Given the description of an element on the screen output the (x, y) to click on. 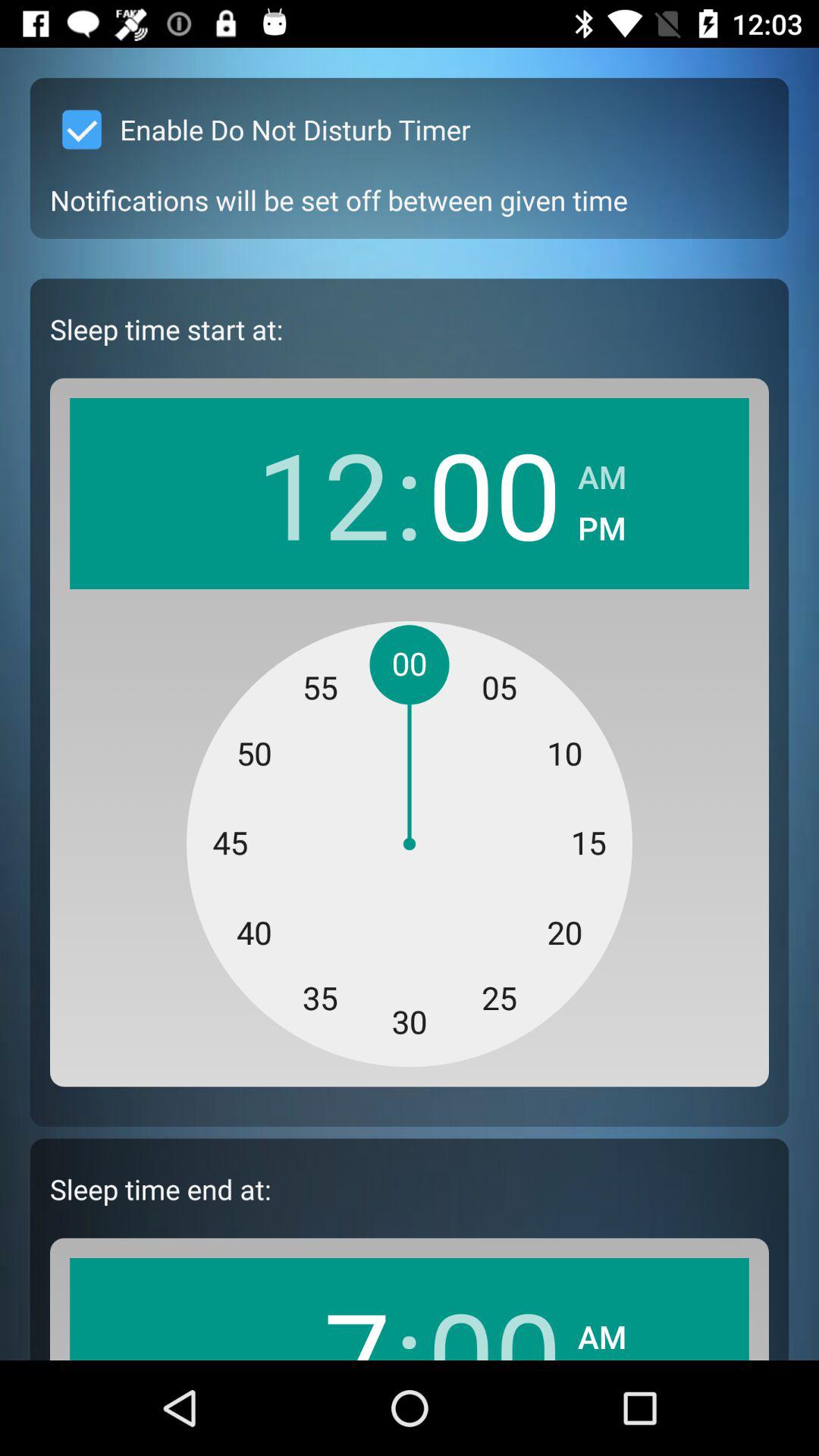
open icon above the notifications will be item (260, 129)
